Given the description of an element on the screen output the (x, y) to click on. 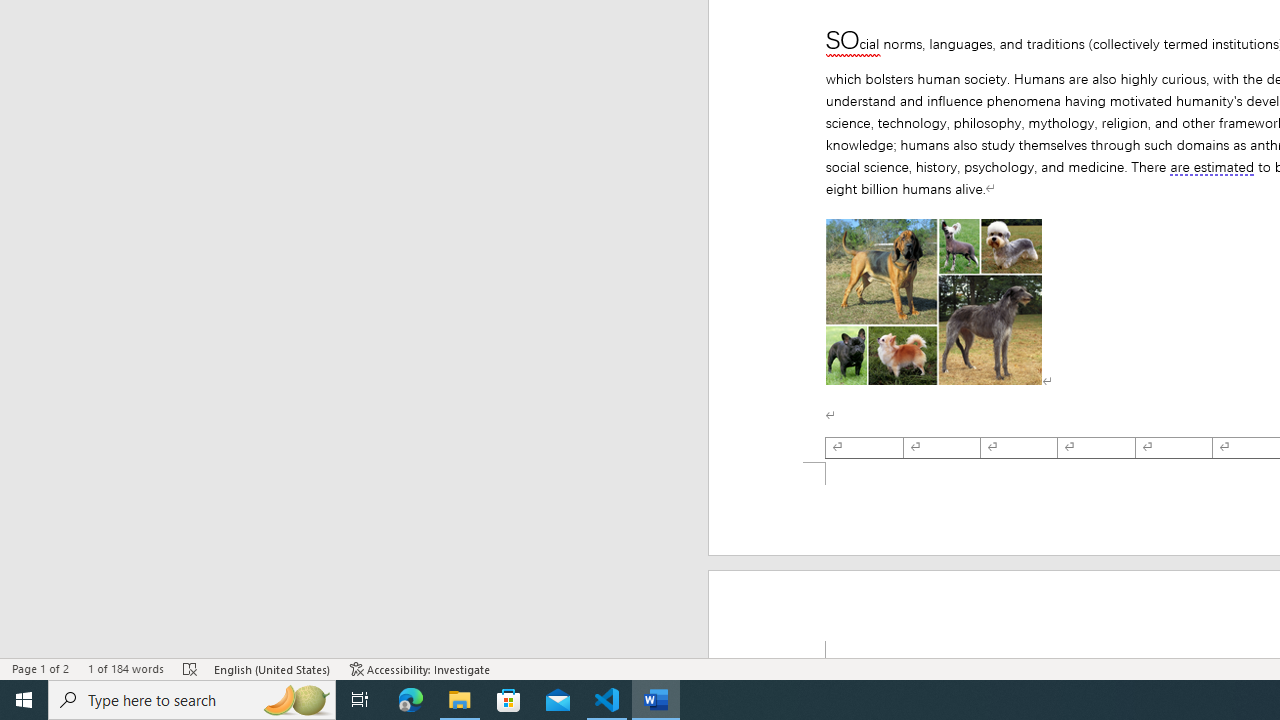
Word - 1 running window (656, 699)
Page Number Page 1 of 2 (39, 668)
